Given the description of an element on the screen output the (x, y) to click on. 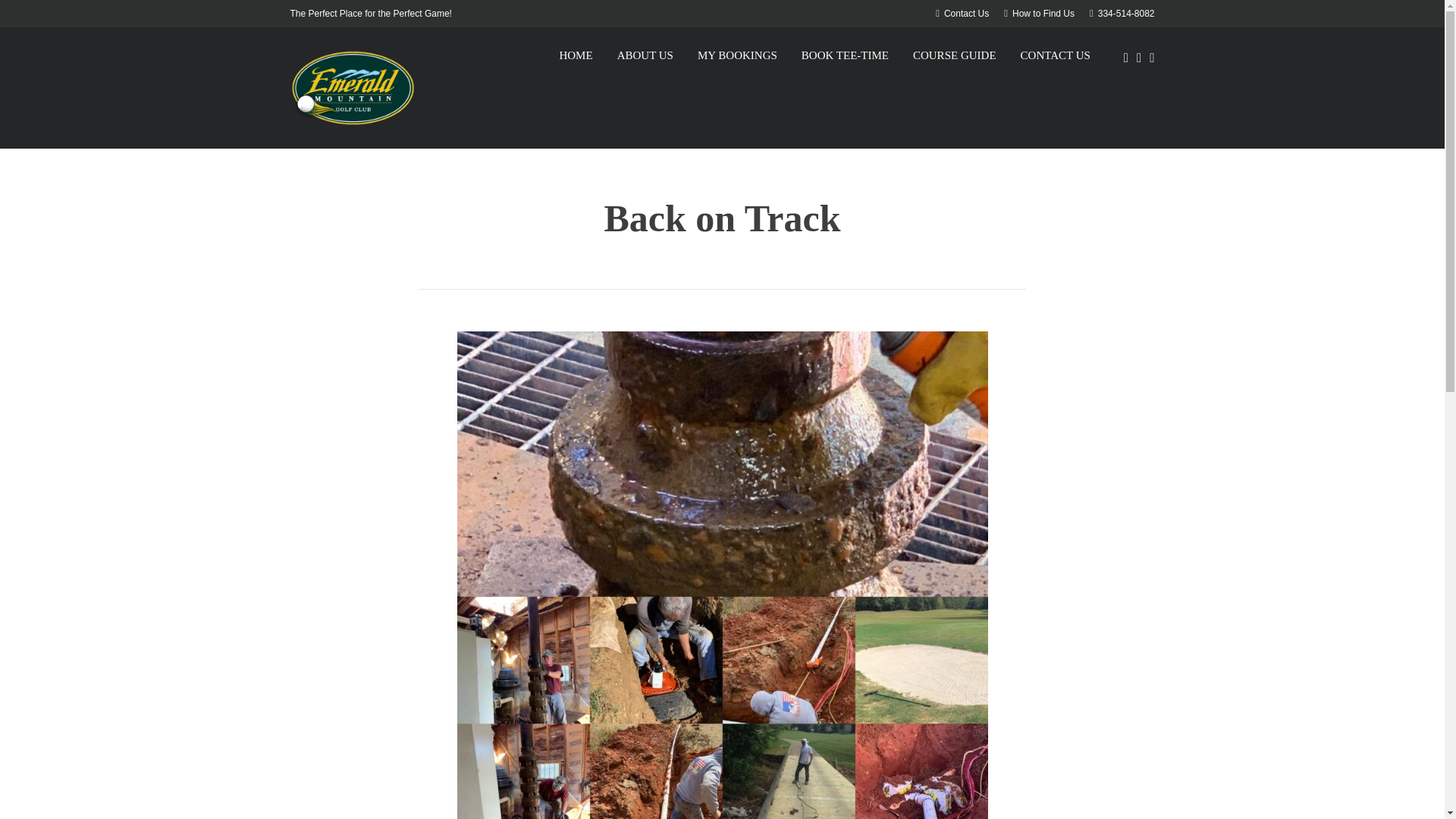
334-514-8082 (1121, 13)
How to Find Us (1039, 13)
Contact Us (962, 13)
